Given the description of an element on the screen output the (x, y) to click on. 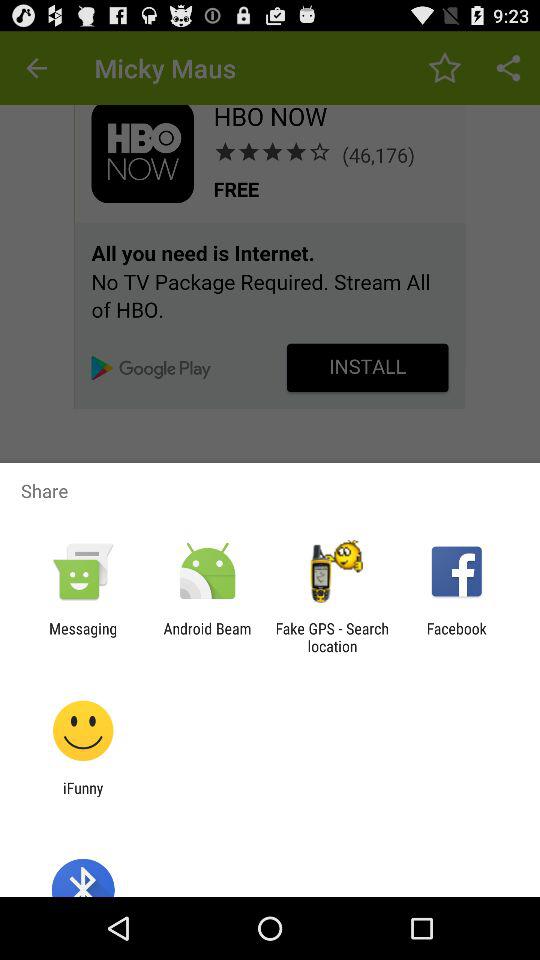
click the messaging icon (83, 637)
